Given the description of an element on the screen output the (x, y) to click on. 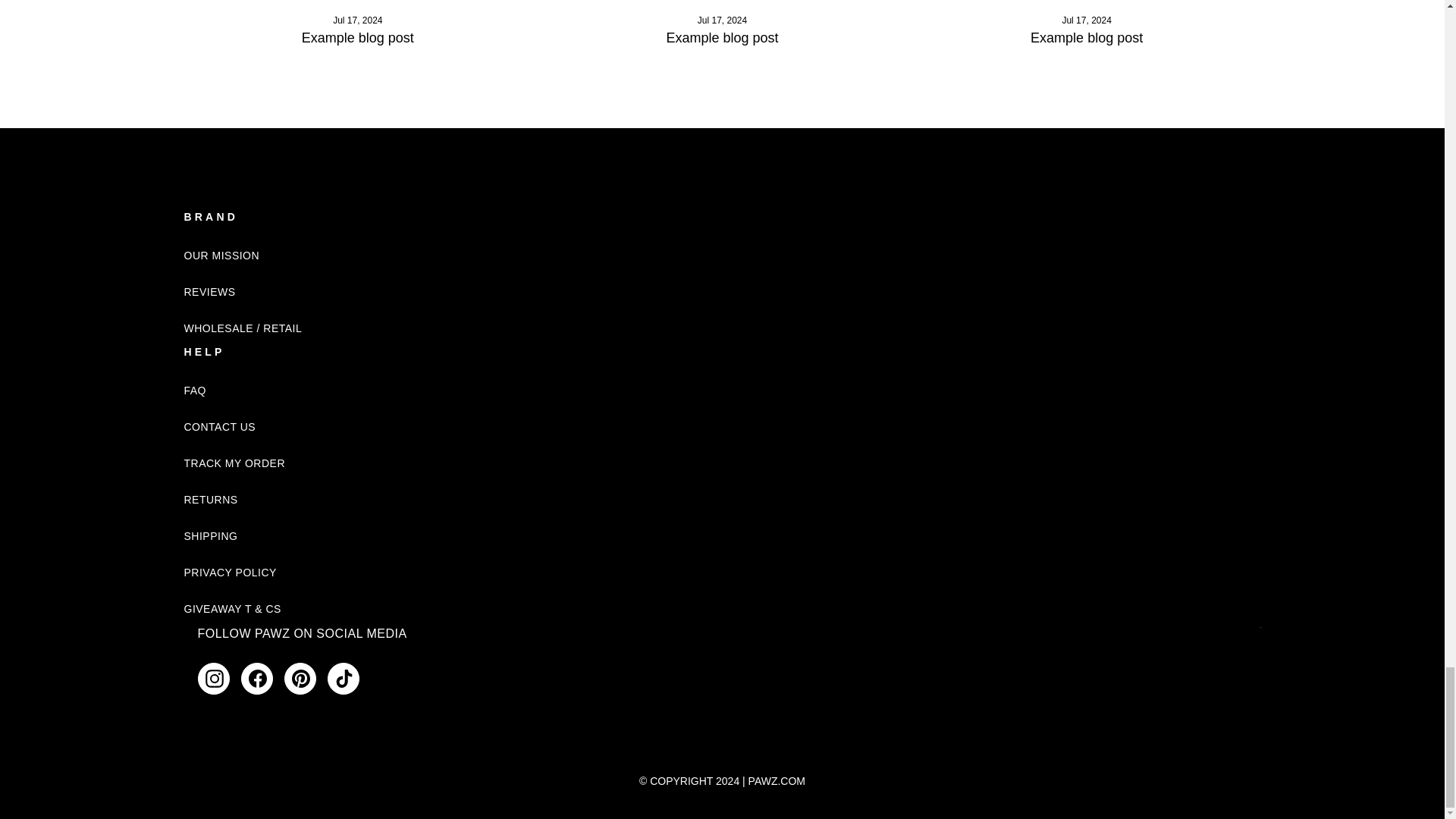
instagram (213, 678)
Pawz on Pinterest (299, 678)
Pawz on TikTok (343, 678)
Pawz on Instagram (212, 678)
Pawz on Facebook (257, 678)
